Given the description of an element on the screen output the (x, y) to click on. 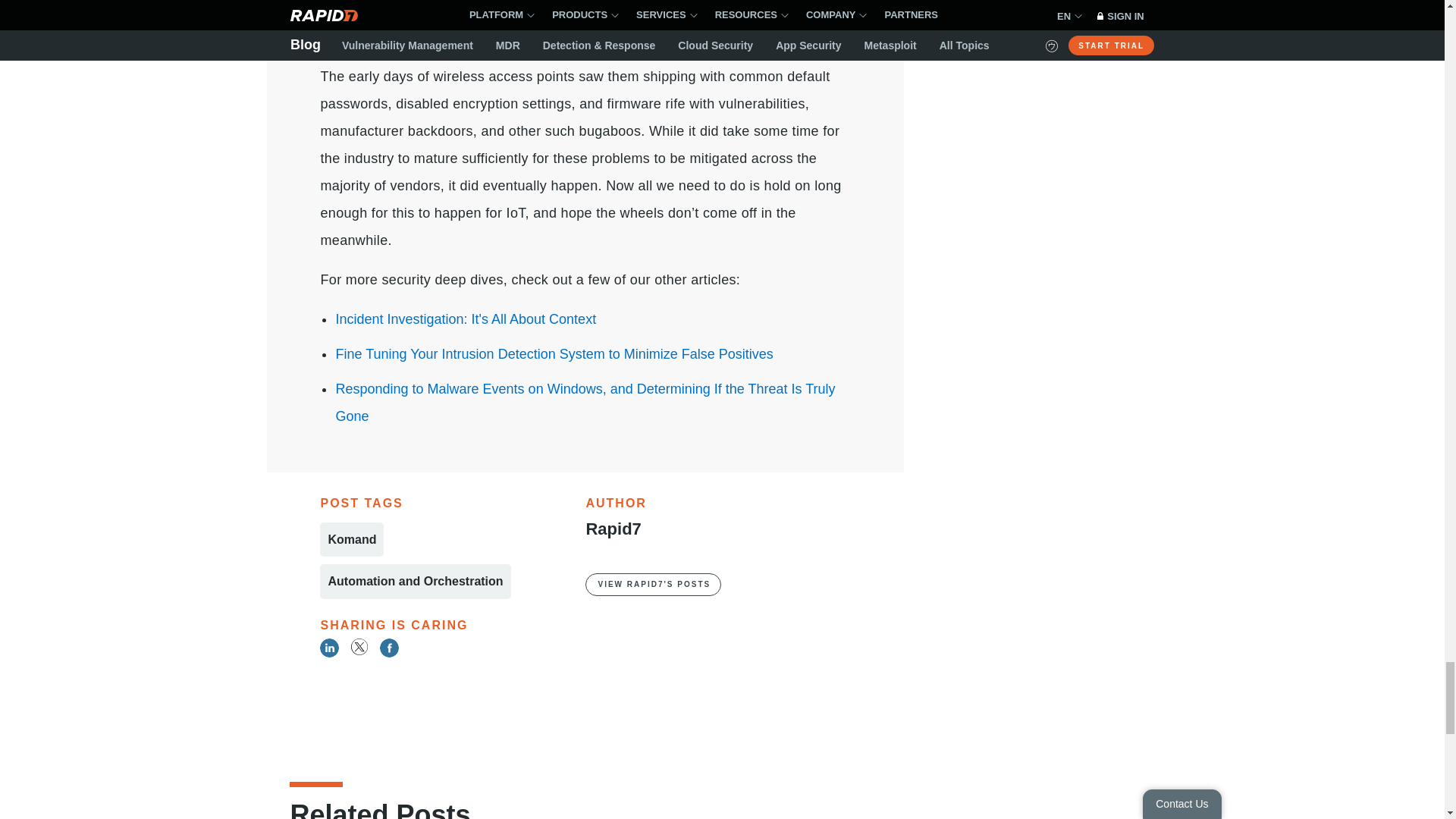
Komand (352, 539)
Rapid7 (612, 528)
Automation and Orchestration (415, 581)
